Given the description of an element on the screen output the (x, y) to click on. 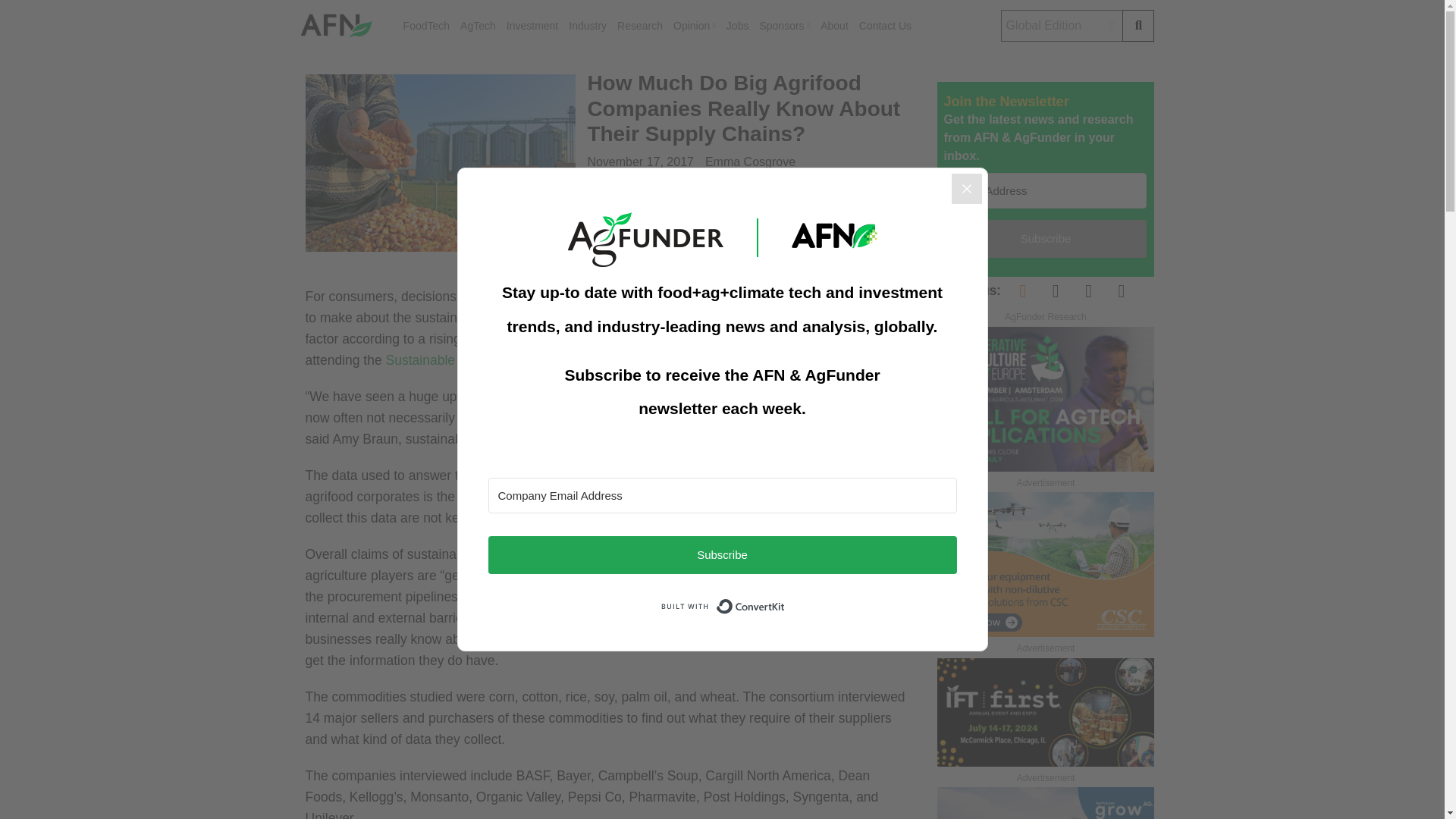
Opinion (694, 25)
Research (639, 25)
Investment (531, 25)
Contact Us (885, 25)
Sponsors (783, 25)
Industry (588, 25)
AgTech (478, 25)
FoodTech (426, 25)
